Given the description of an element on the screen output the (x, y) to click on. 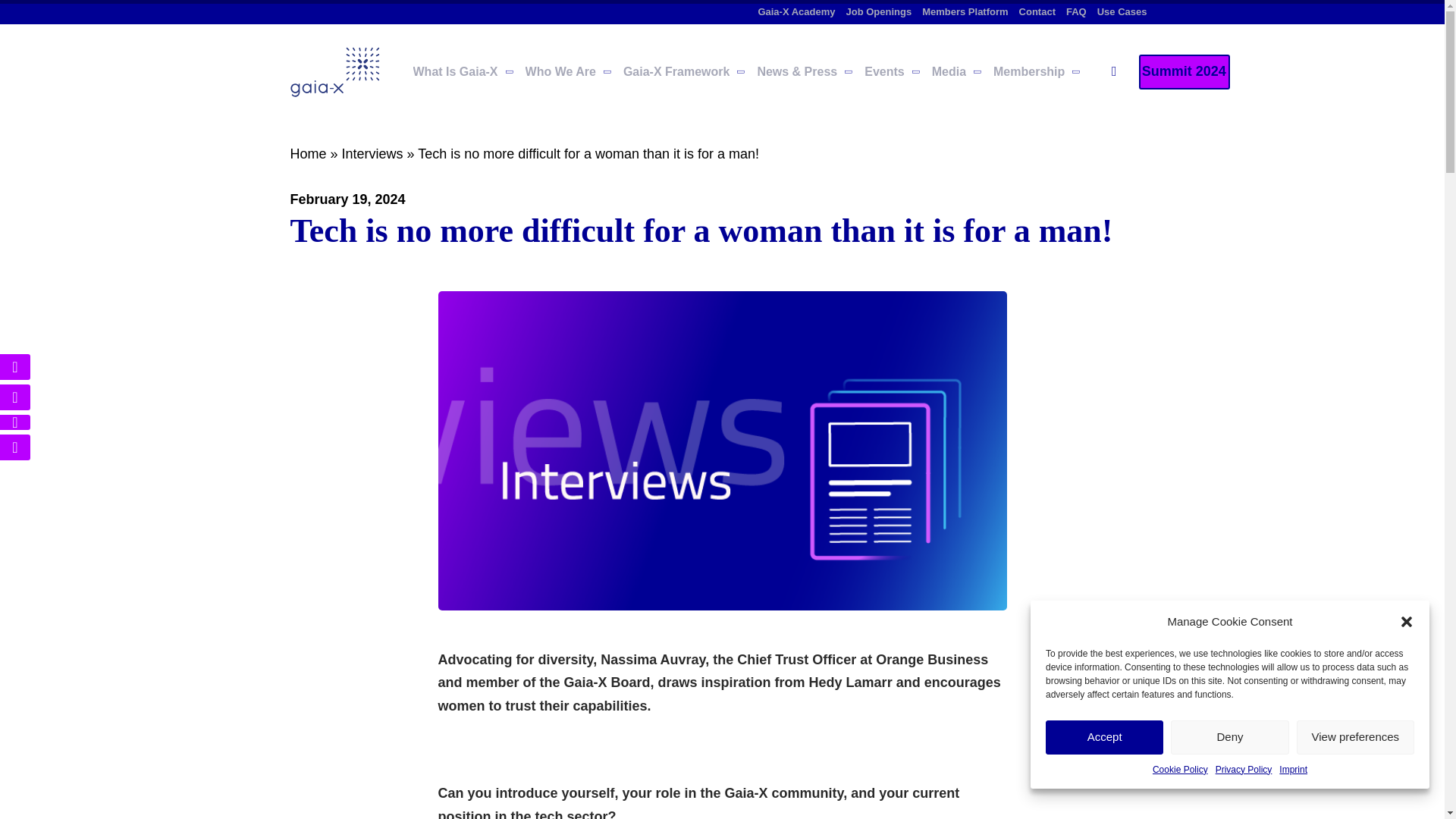
Contact (1037, 11)
Job Openings (878, 11)
Accept (1104, 737)
Gaia-X Academy (795, 11)
Use Cases (1122, 11)
Privacy Policy (1243, 769)
FAQ (1075, 11)
Cookie Policy (1180, 769)
View preferences (1355, 737)
Members Platform (964, 11)
Gaia-X Framework (676, 71)
Deny (1229, 737)
Imprint (1293, 769)
Who We Are (560, 71)
Event (1184, 71)
